Given the description of an element on the screen output the (x, y) to click on. 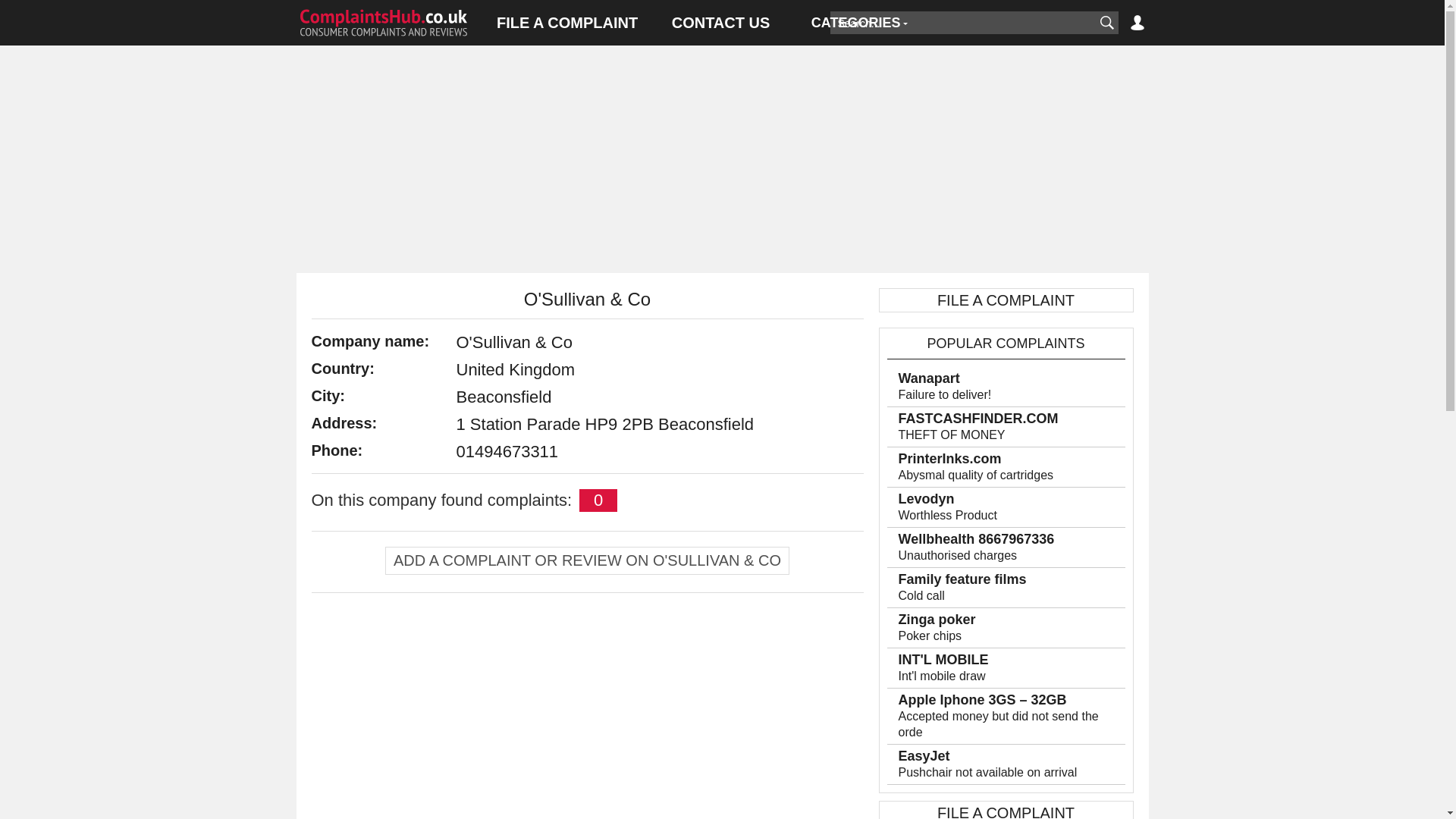
CONTACT US (721, 22)
FILE A COMPLAINT (566, 22)
Advertisement (587, 713)
Find (1106, 22)
Search... (961, 22)
Search... (961, 22)
